Given the description of an element on the screen output the (x, y) to click on. 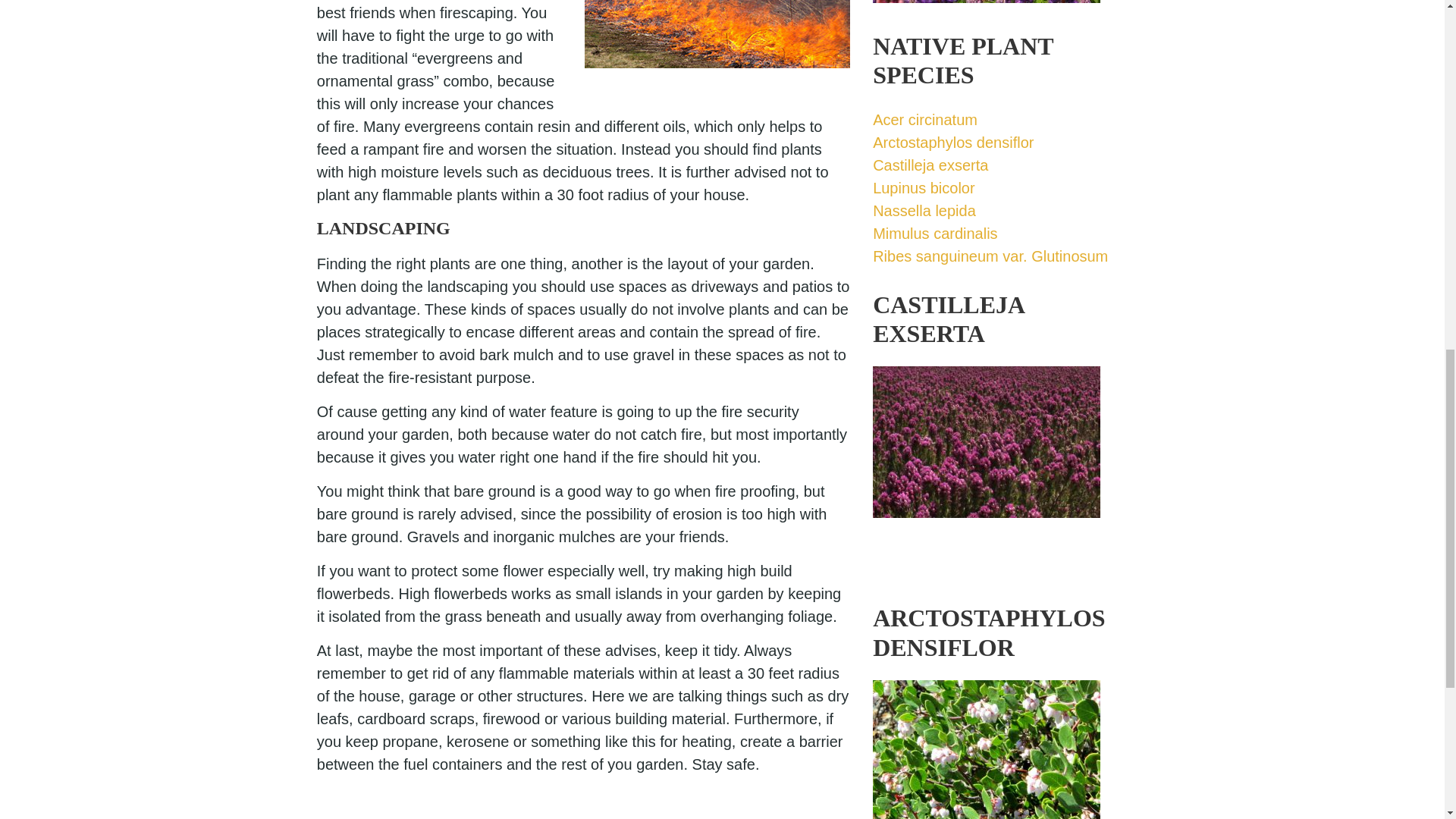
Lupinus bicolor (986, 15)
Acer circinatum (924, 119)
Lupinus bicolor (923, 187)
Arctostaphylos densiflor (952, 142)
Nassella lepida (923, 210)
Ribes sanguineum var. Glutinosum (990, 256)
Castilleja exserta (930, 165)
Mimulus cardinalis (934, 233)
Castilleja exserta (986, 535)
